Given the description of an element on the screen output the (x, y) to click on. 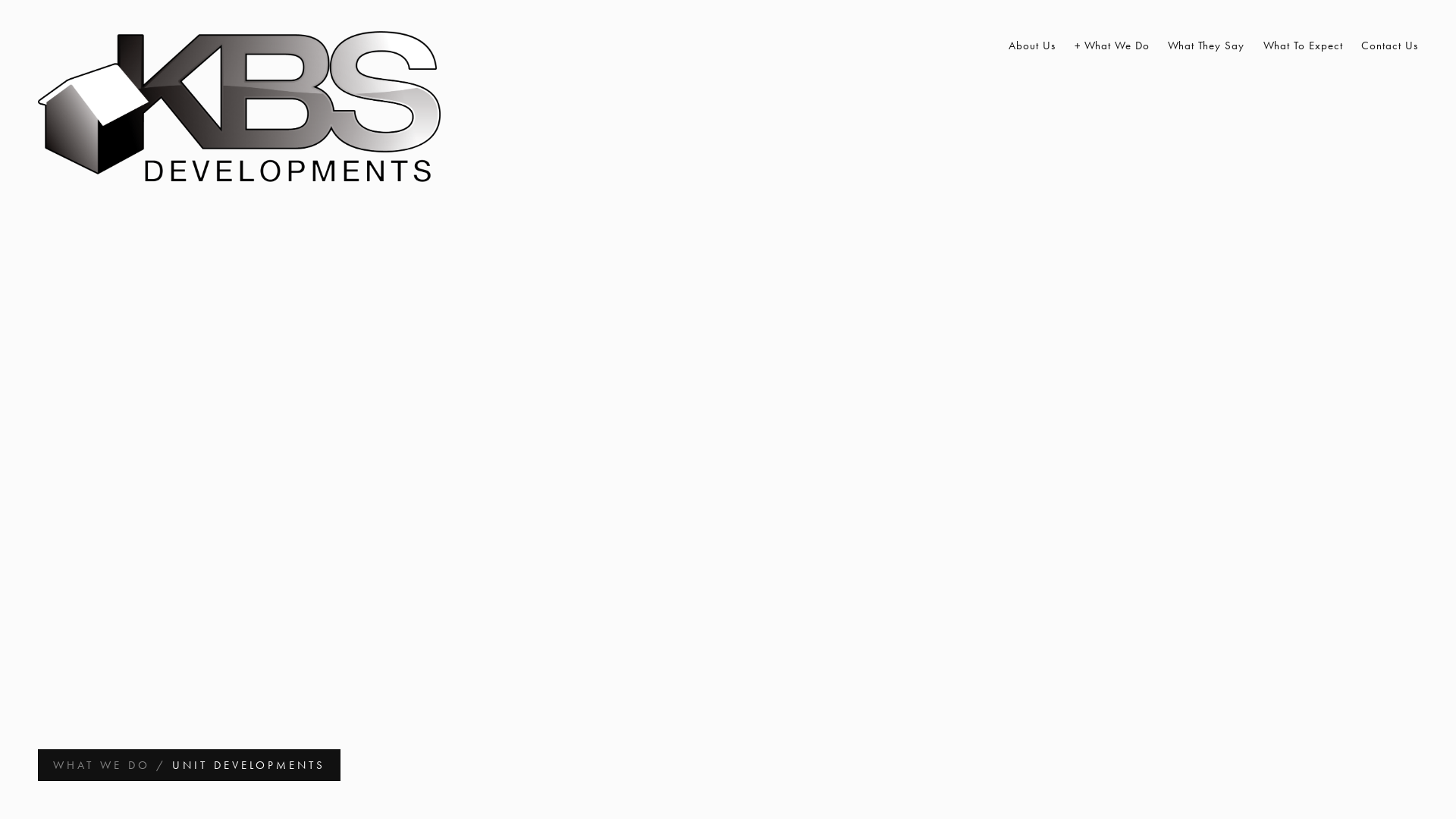
WHAT WE DO / UNIT DEVELOPMENTS Element type: text (188, 765)
What They Say Element type: text (1205, 45)
What We Do Element type: text (1111, 45)
What To Expect Element type: text (1303, 45)
About Us Element type: text (1031, 45)
Contact Us Element type: text (1389, 45)
